Given the description of an element on the screen output the (x, y) to click on. 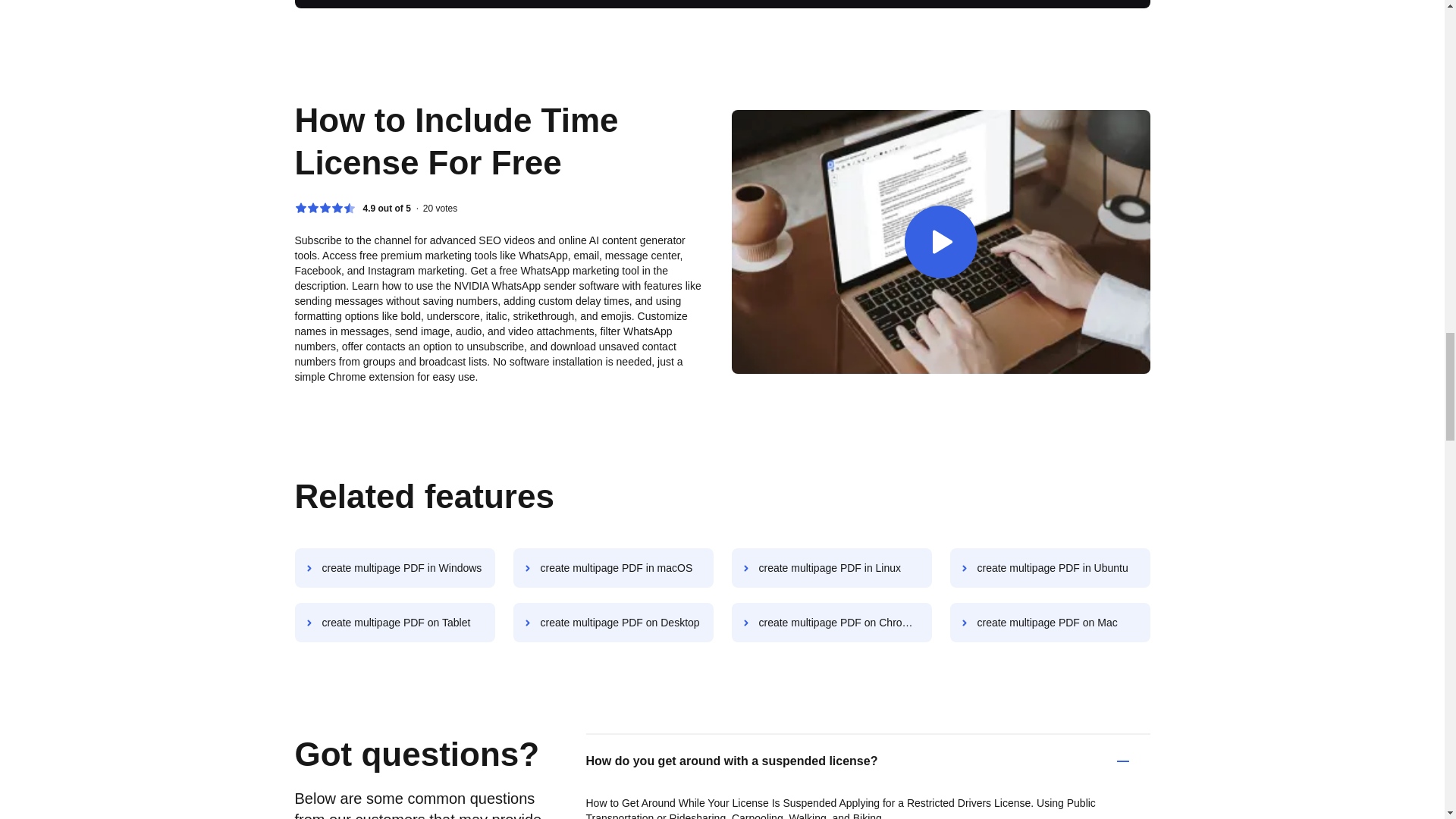
create multipage PDF in Ubuntu (1049, 567)
create multipage PDF in Linux (830, 567)
create multipage PDF on Tablet (394, 622)
create multipage PDF on Chromebook (830, 622)
create multipage PDF in Windows (394, 567)
create multipage PDF on Desktop (612, 622)
create multipage PDF on Mac (1049, 622)
create multipage PDF in macOS (612, 567)
